Given the description of an element on the screen output the (x, y) to click on. 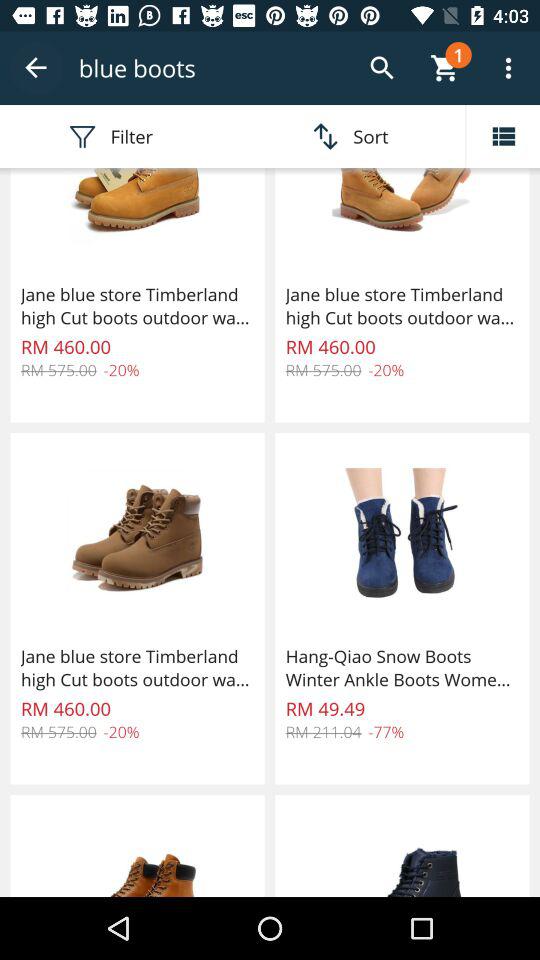
back (36, 68)
